Given the description of an element on the screen output the (x, y) to click on. 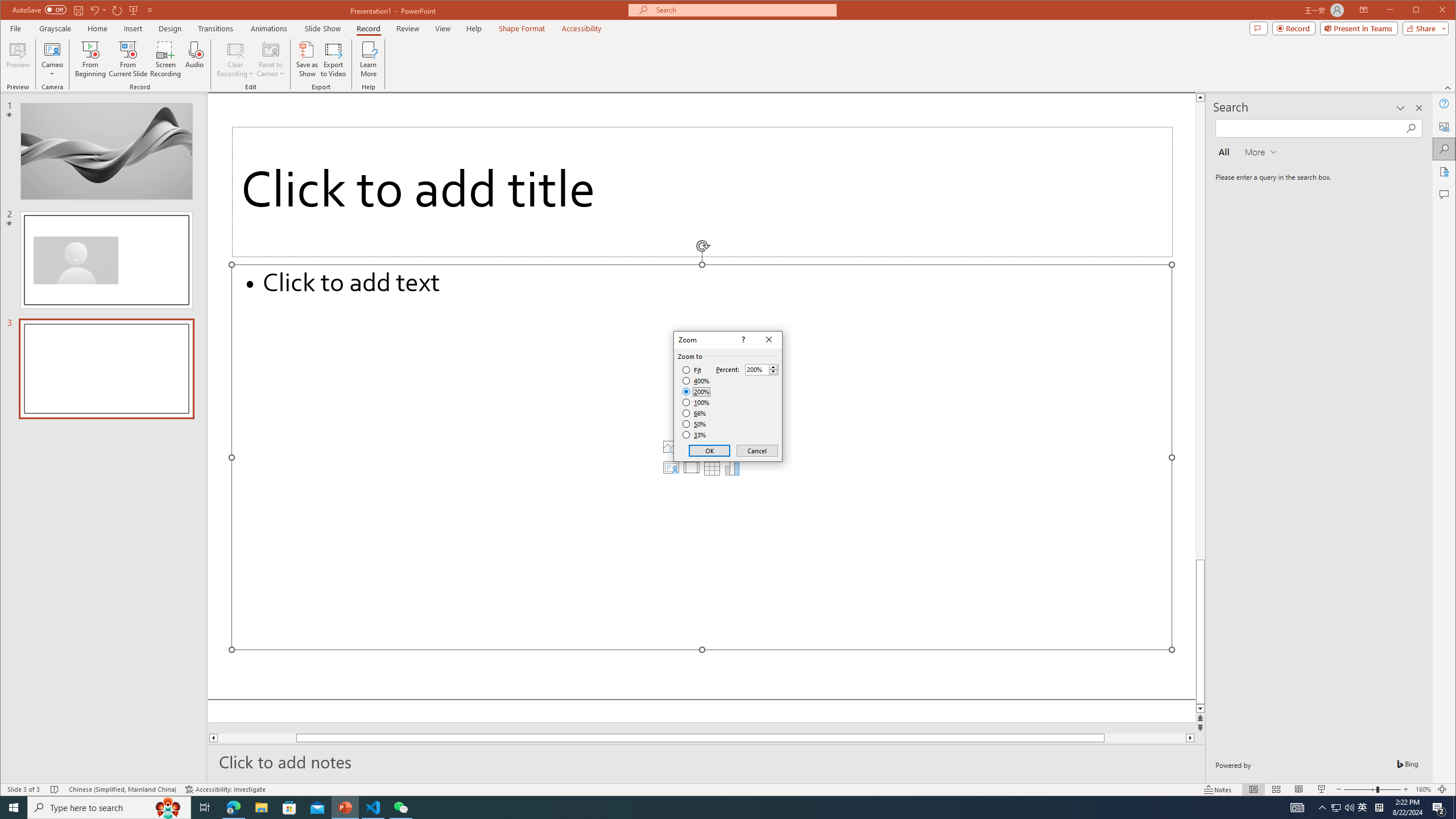
66% (694, 412)
50% (694, 424)
